Given the description of an element on the screen output the (x, y) to click on. 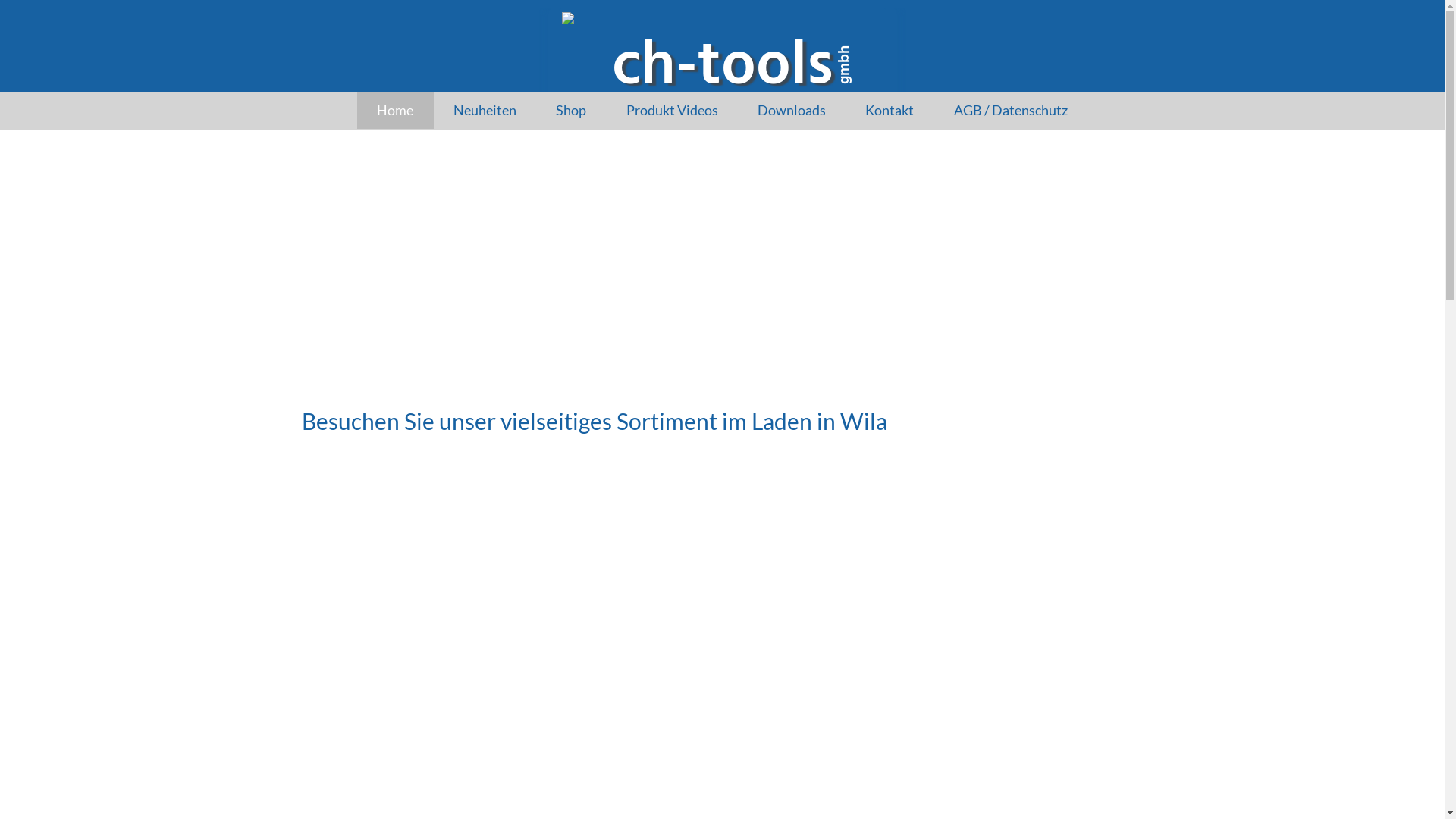
AGB / Datenschutz Element type: text (1009, 110)
Produkt Videos Element type: text (671, 110)
Downloads Element type: text (791, 110)
Kontakt Element type: text (889, 110)
Home Element type: text (394, 110)
Neuheiten Element type: text (484, 110)
Shop Element type: text (570, 110)
ch-tools Element type: text (721, 53)
